Given the description of an element on the screen output the (x, y) to click on. 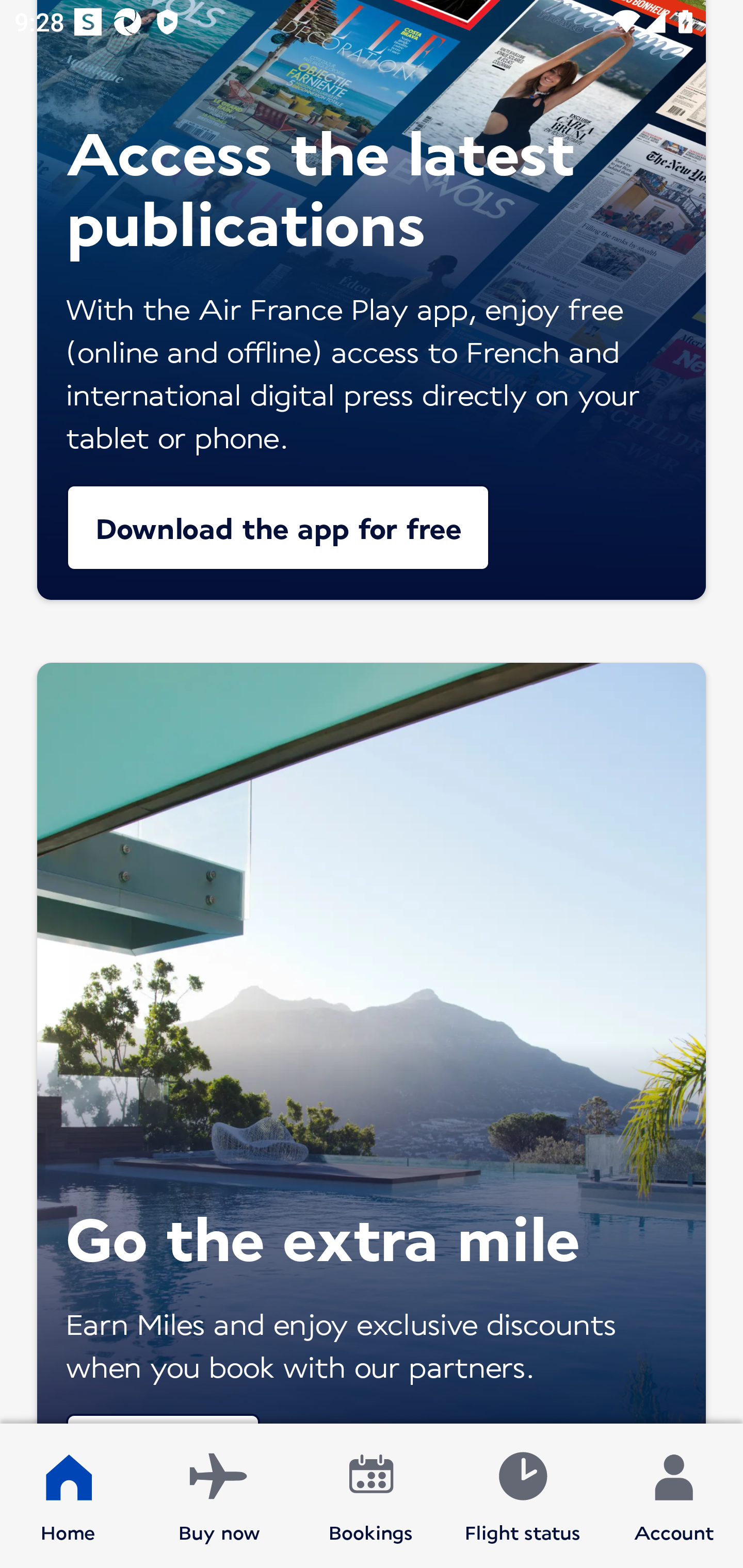
Buy now (219, 1495)
Bookings (370, 1495)
Flight status (522, 1495)
Account (674, 1495)
